Given the description of an element on the screen output the (x, y) to click on. 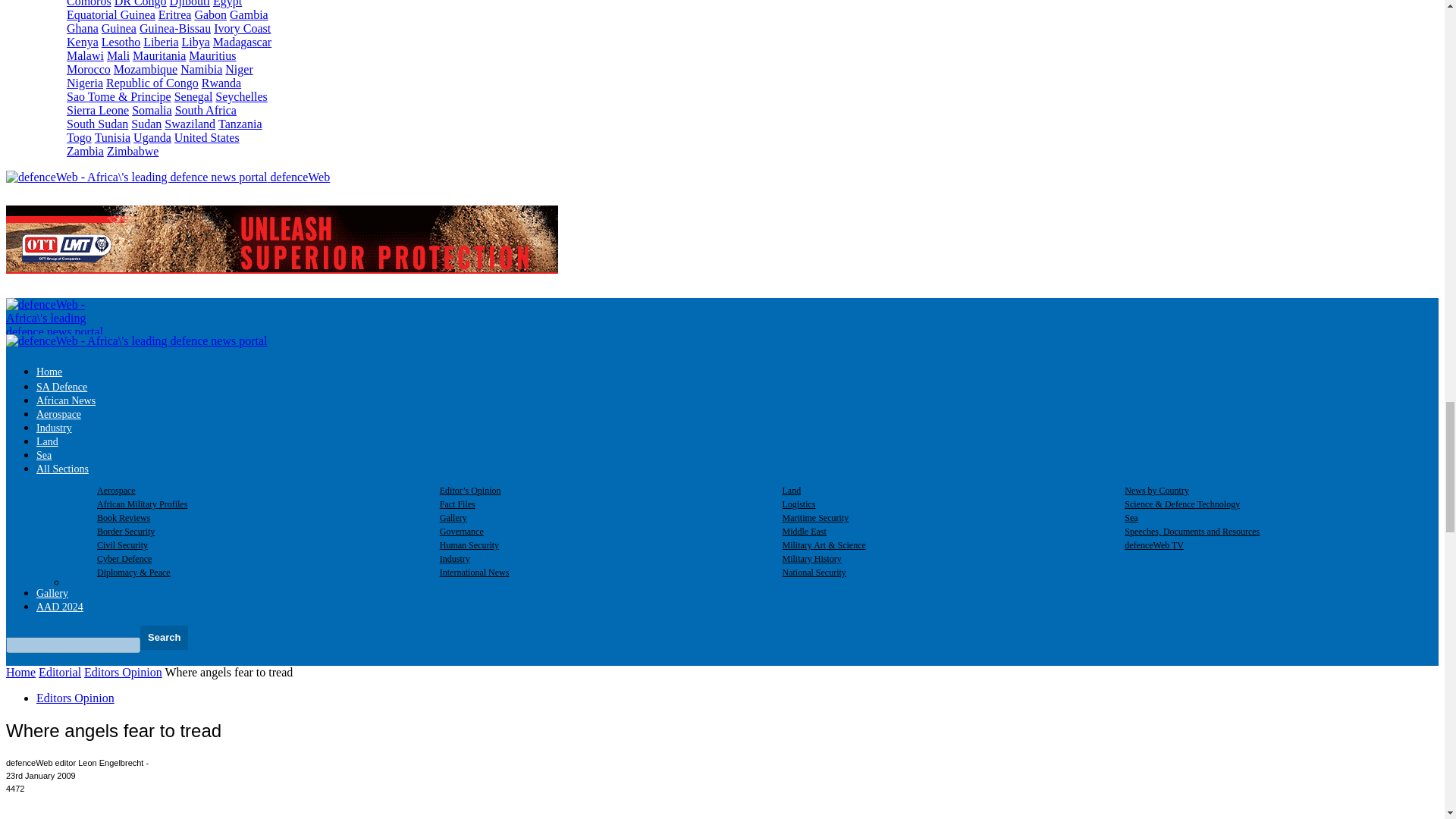
Search (163, 637)
